Given the description of an element on the screen output the (x, y) to click on. 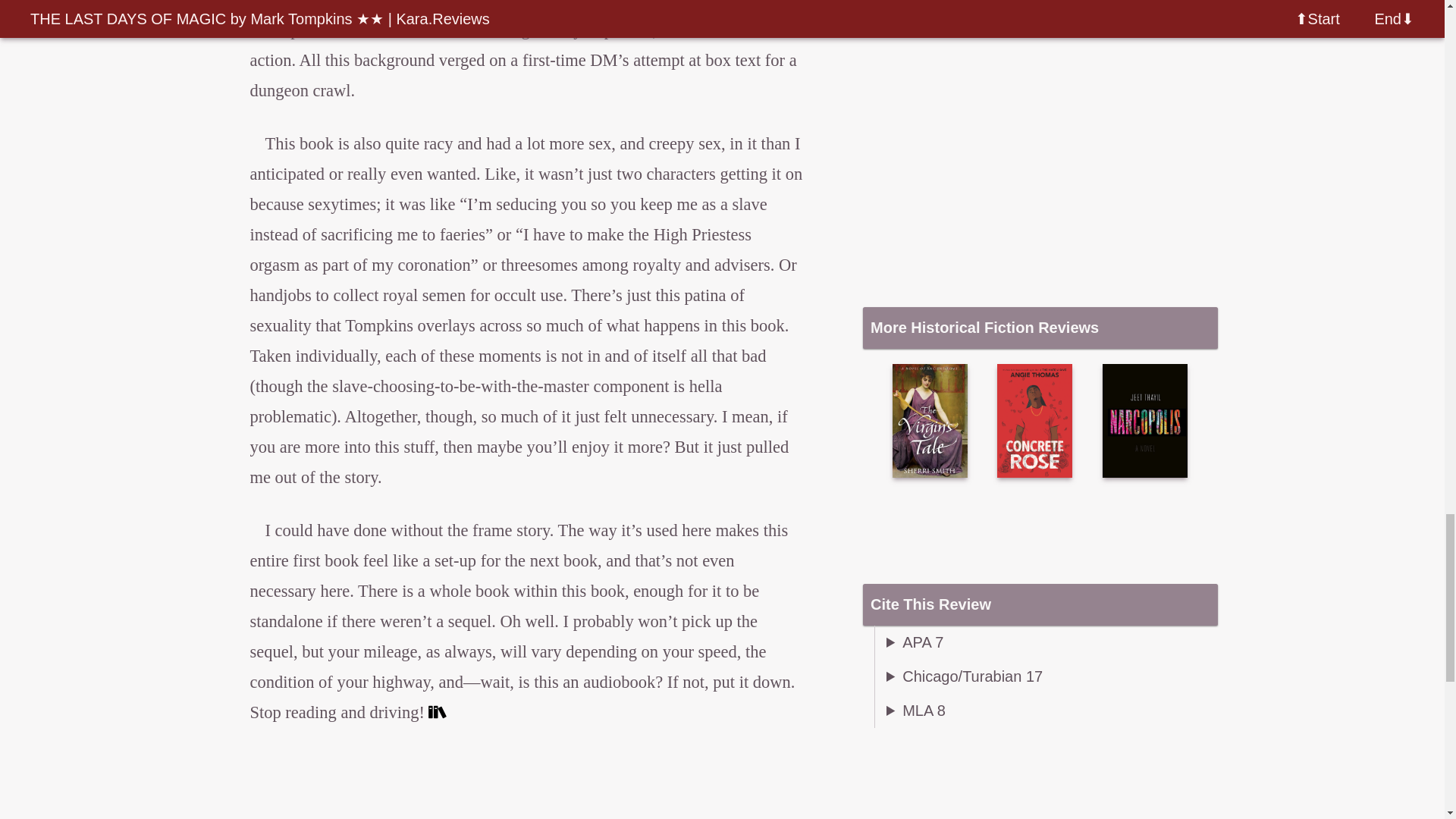
Narcopolis by Jeet Thayil (1145, 420)
Concrete Rose by Angie Thomas (1034, 420)
The Virgin's Tale by Sherri Smith (929, 420)
